Given the description of an element on the screen output the (x, y) to click on. 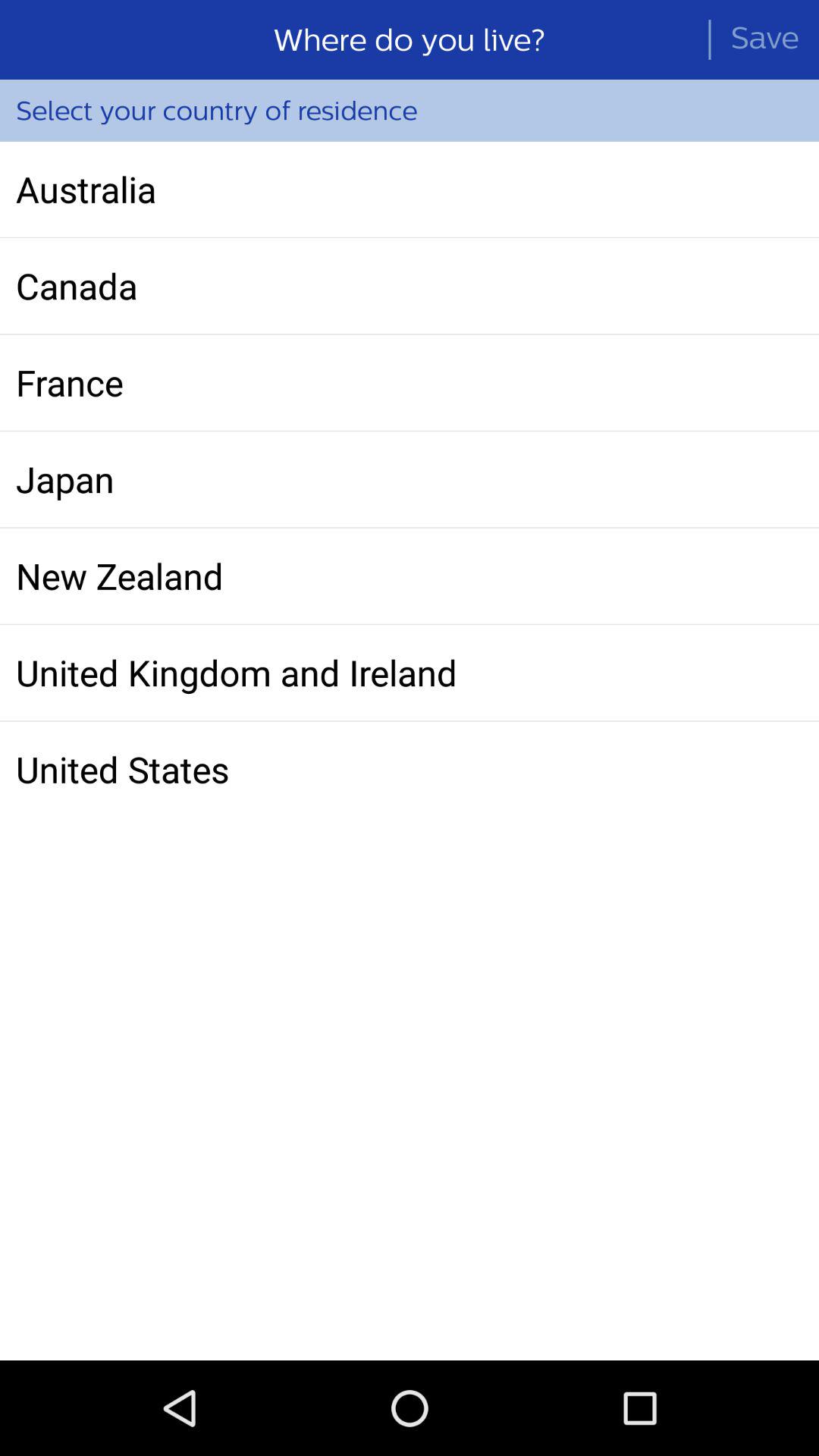
press icon above the new zealand icon (409, 479)
